Given the description of an element on the screen output the (x, y) to click on. 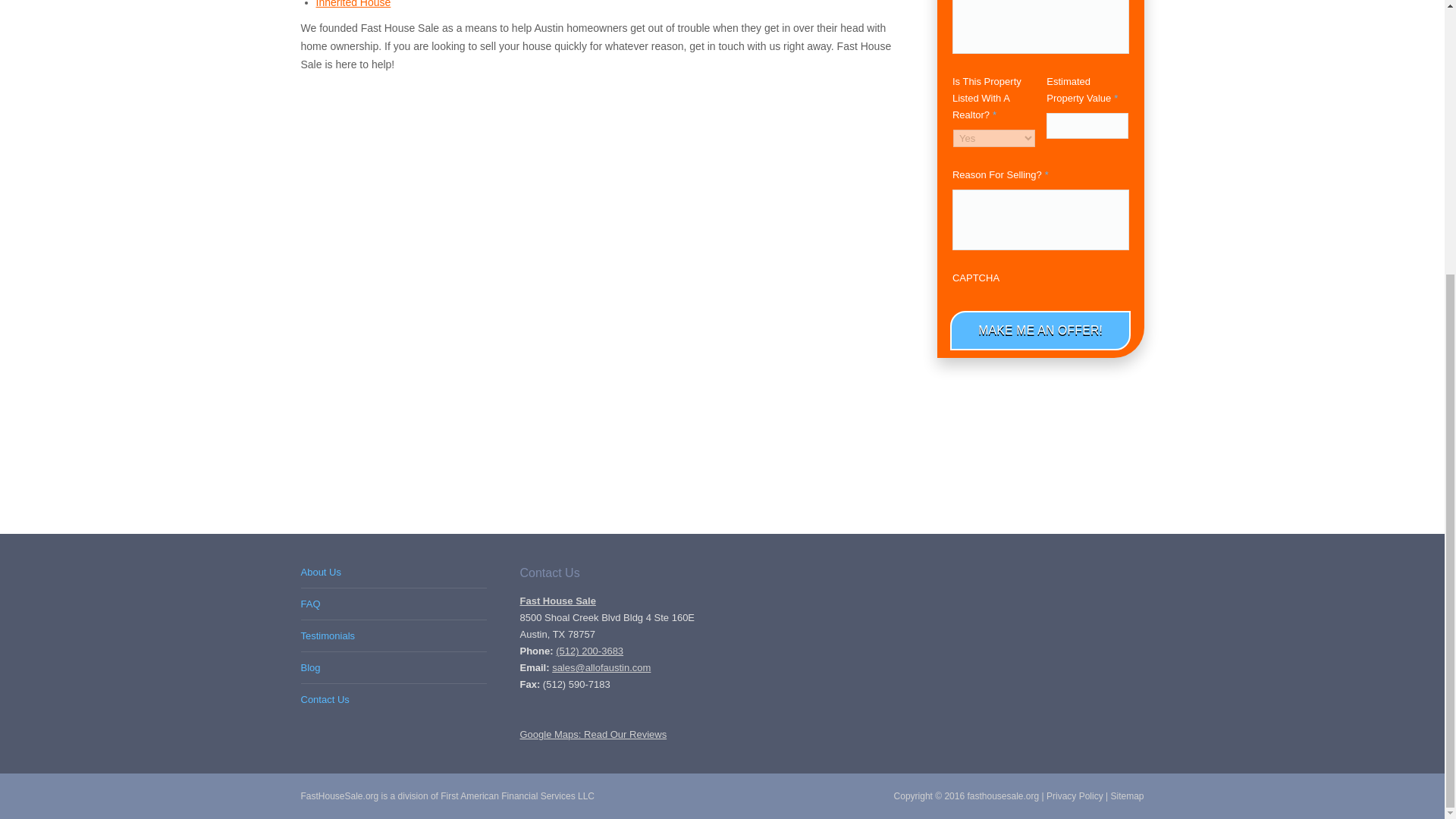
Google Maps: Read Our Reviews (592, 734)
Contact Us (329, 699)
Inherited House (352, 4)
Privacy Policy (1074, 796)
Make Me An Offer! (1040, 331)
Make Me An Offer! (1040, 331)
FAQ (315, 603)
Sitemap (1125, 796)
Blog (315, 667)
Fast House Sale (557, 600)
